Given the description of an element on the screen output the (x, y) to click on. 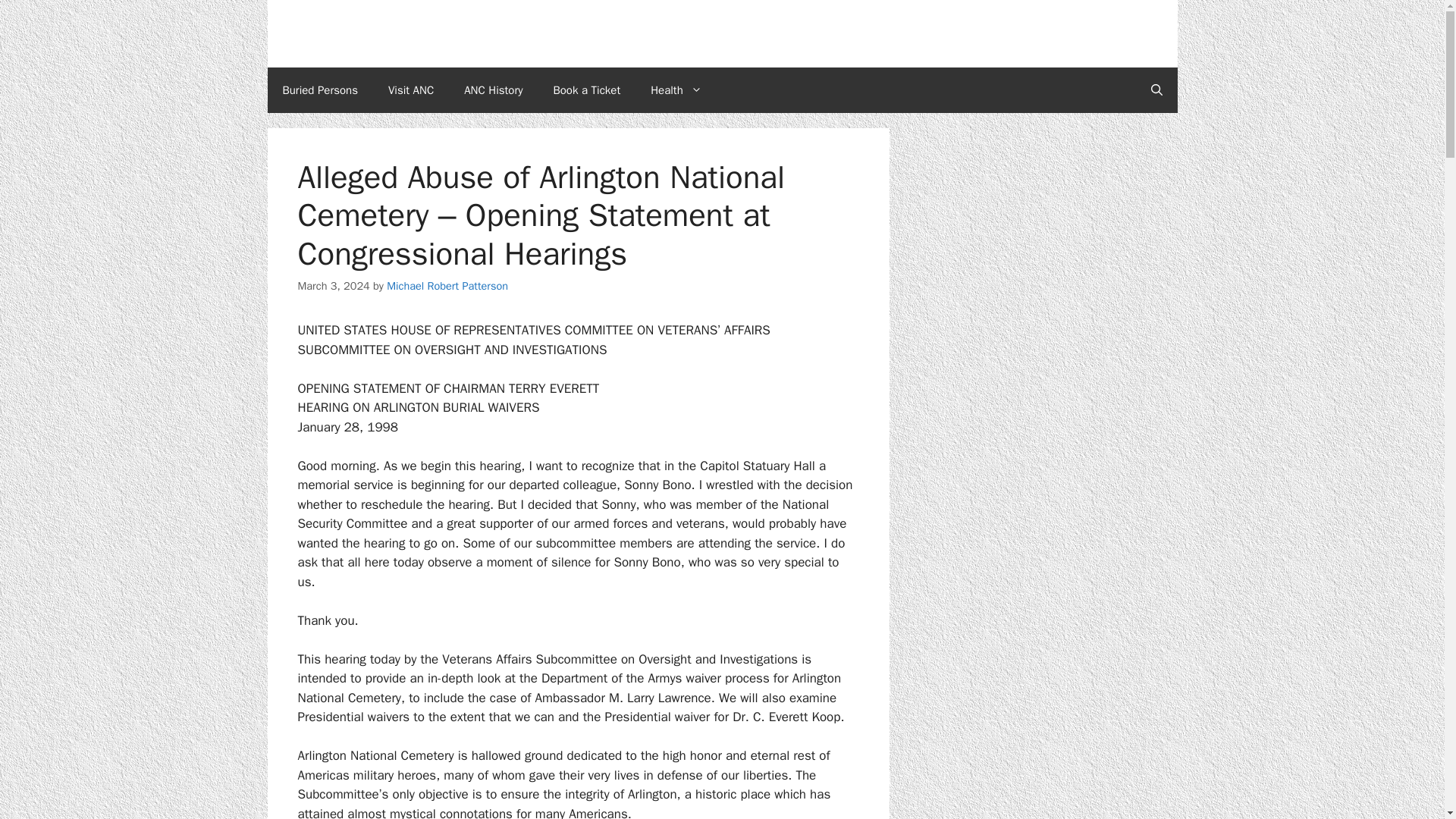
Health (675, 90)
View all posts by Michael Robert Patterson (447, 285)
Buried Persons (319, 90)
Buried Persons (319, 90)
Visit ANC (410, 90)
ANC History (492, 90)
Book a Ticket (587, 90)
